Given the description of an element on the screen output the (x, y) to click on. 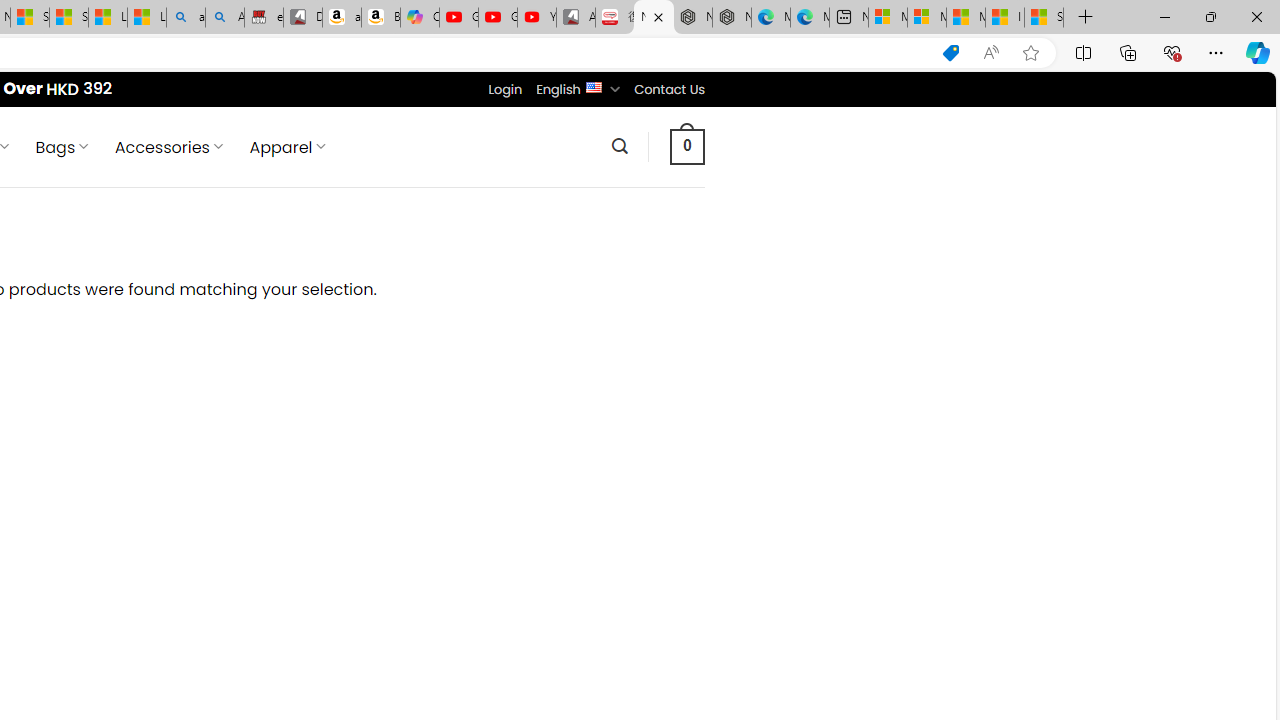
Login (505, 89)
Login (505, 89)
English (592, 86)
